Given the description of an element on the screen output the (x, y) to click on. 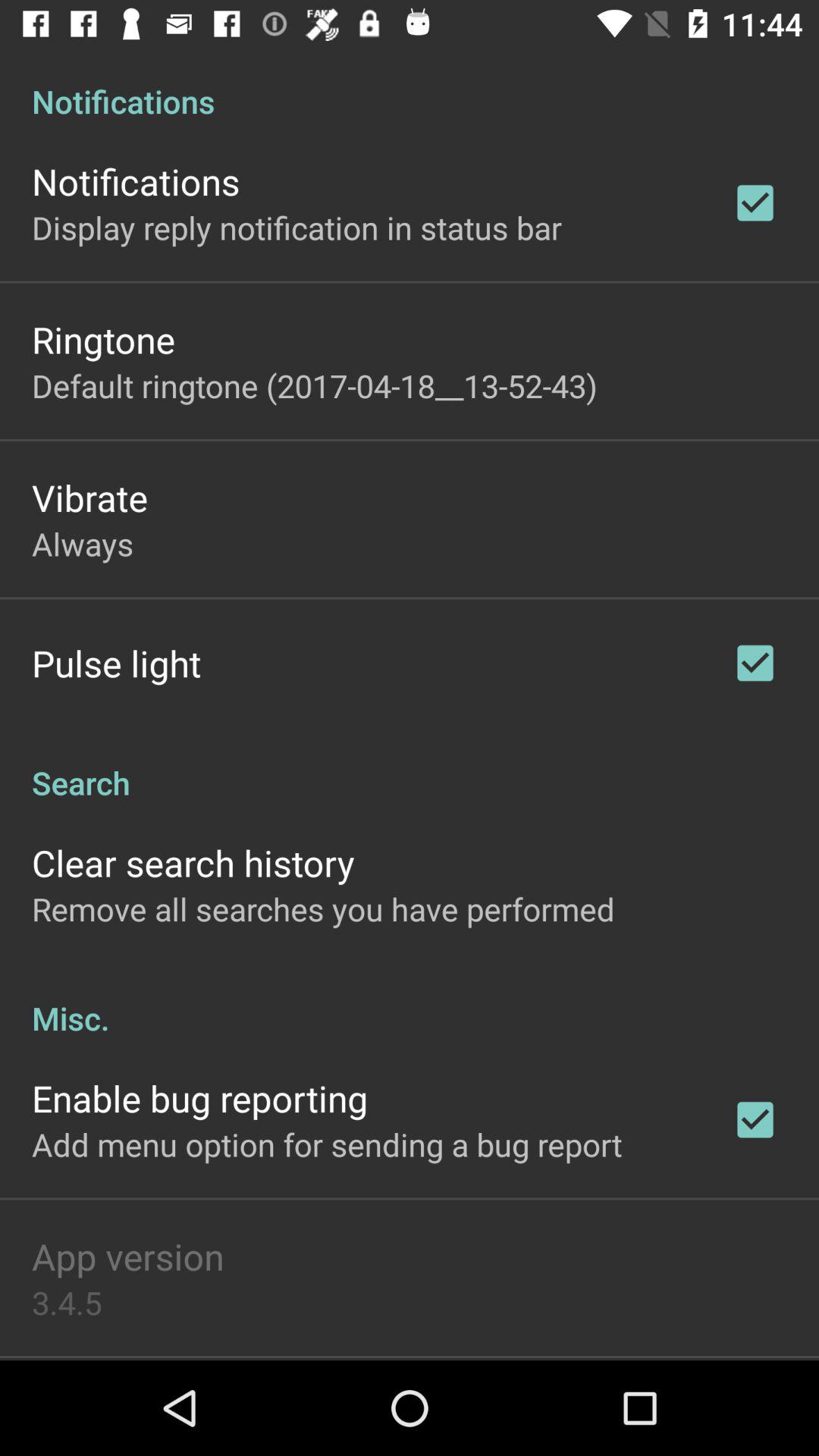
select the icon below the notifications icon (296, 227)
